Given the description of an element on the screen output the (x, y) to click on. 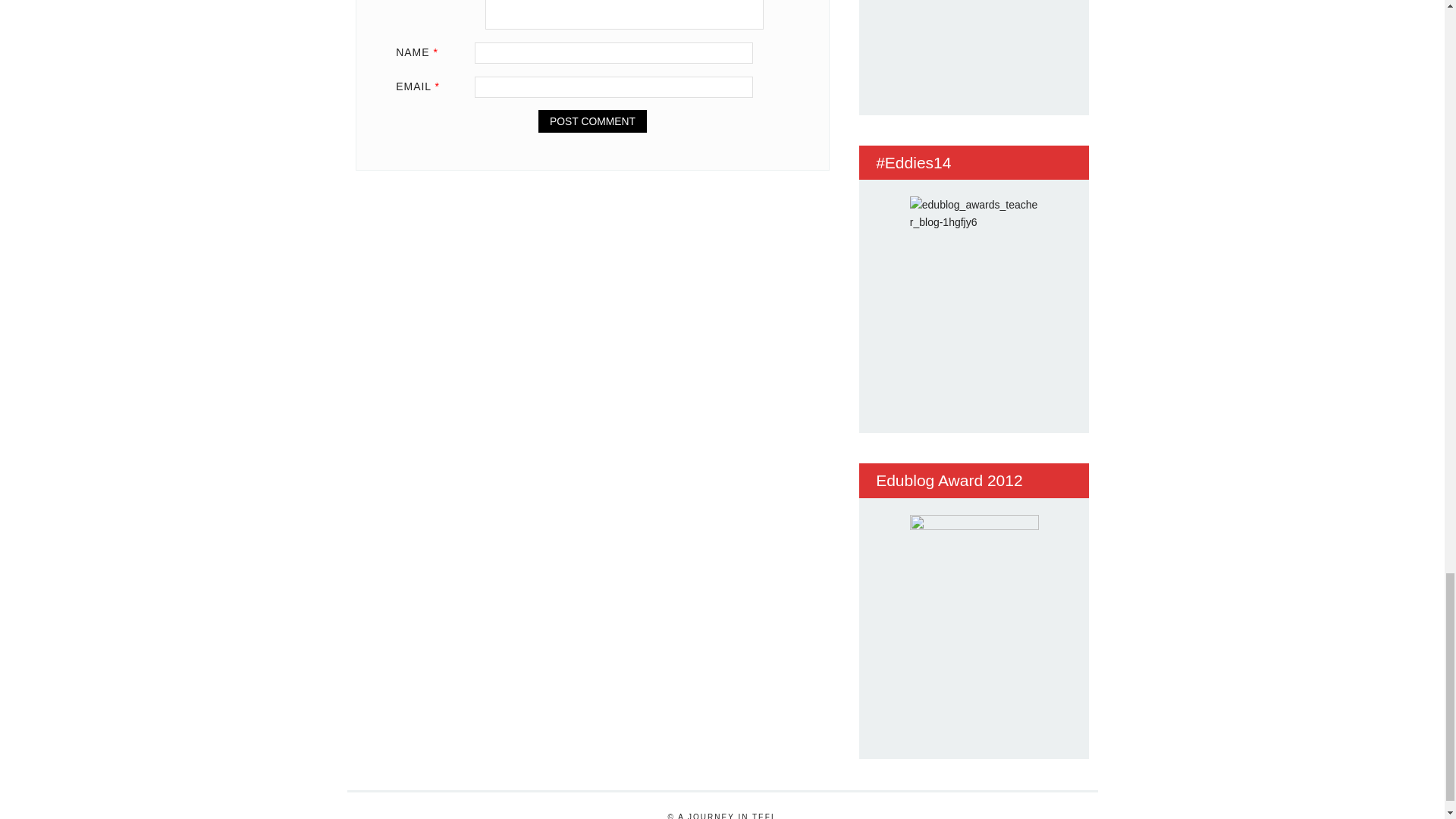
Post Comment (592, 120)
